Given the description of an element on the screen output the (x, y) to click on. 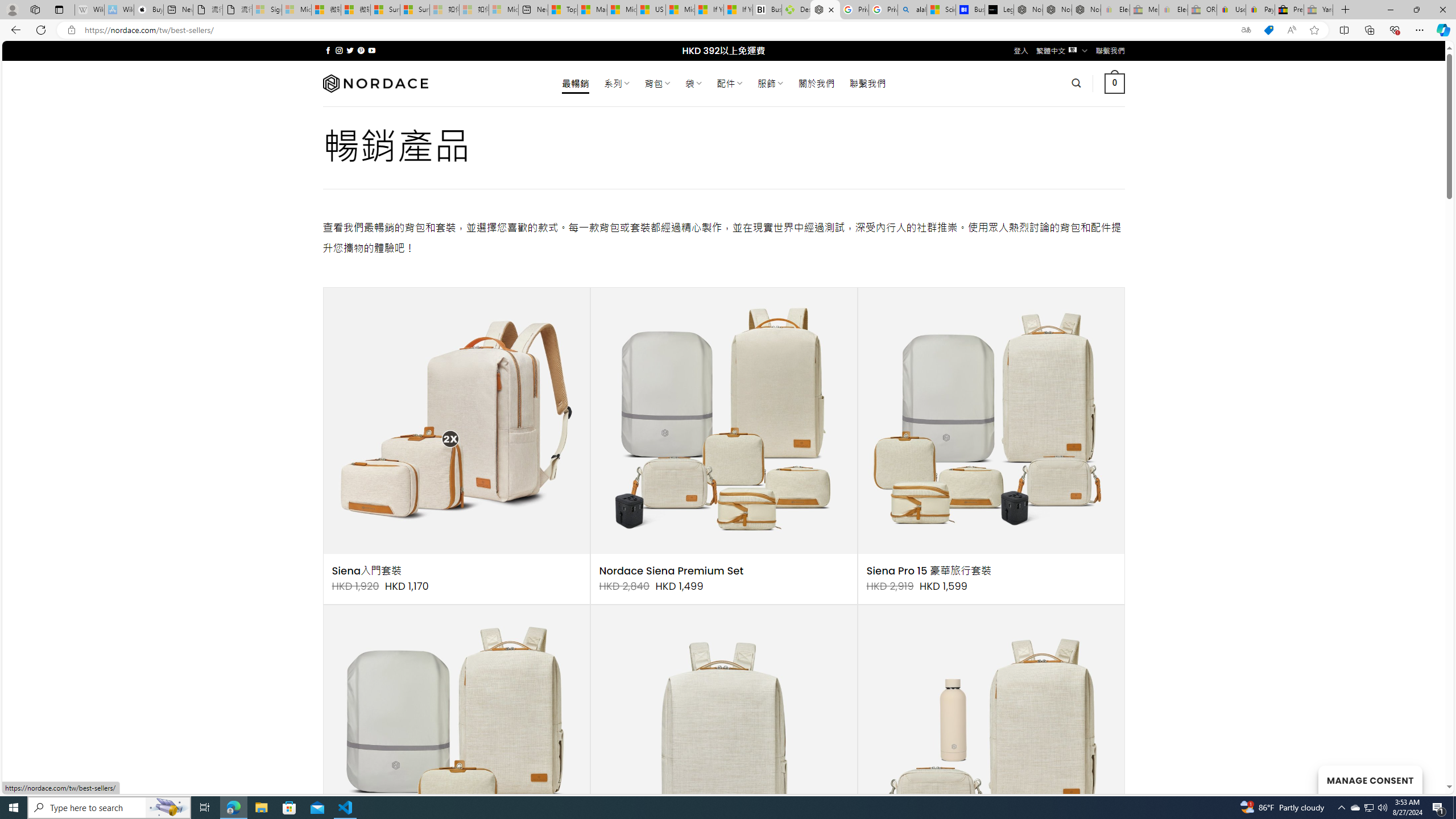
Split screen (1344, 29)
Nordace (374, 83)
Back (13, 29)
Marine life - MSN (591, 9)
Descarga Driver Updater (796, 9)
Follow on Facebook (327, 50)
Microsoft account | Account Checkup - Sleeping (502, 9)
User Privacy Notice | eBay (1230, 9)
